Given the description of an element on the screen output the (x, y) to click on. 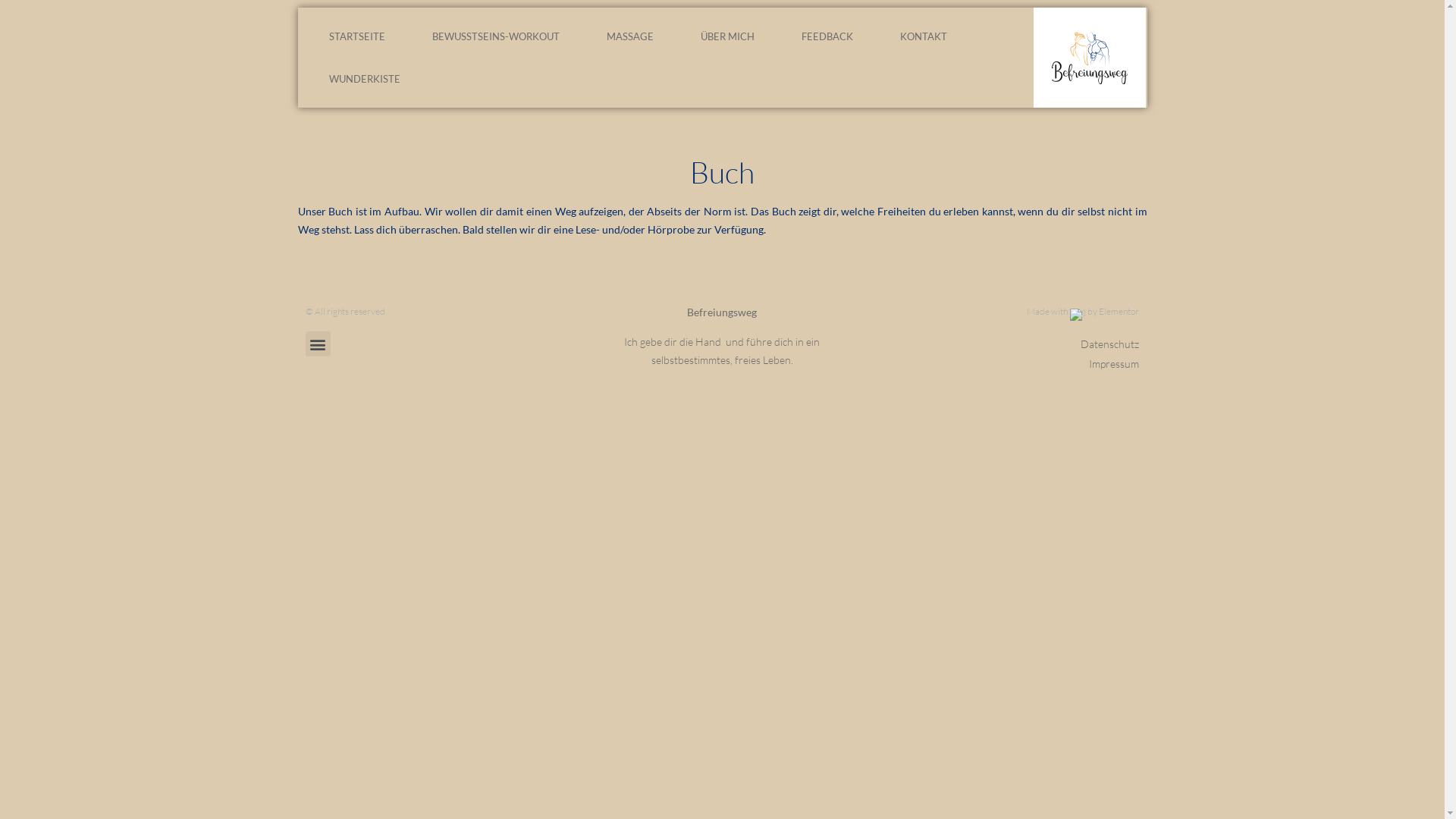
STARTSEITE Element type: text (355, 36)
FEEDBACK Element type: text (827, 36)
WUNDERKISTE Element type: text (363, 78)
BEWUSSTSEINS-WORKOUT Element type: text (494, 36)
KONTAKT Element type: text (923, 36)
MASSAGE Element type: text (629, 36)
